Given the description of an element on the screen output the (x, y) to click on. 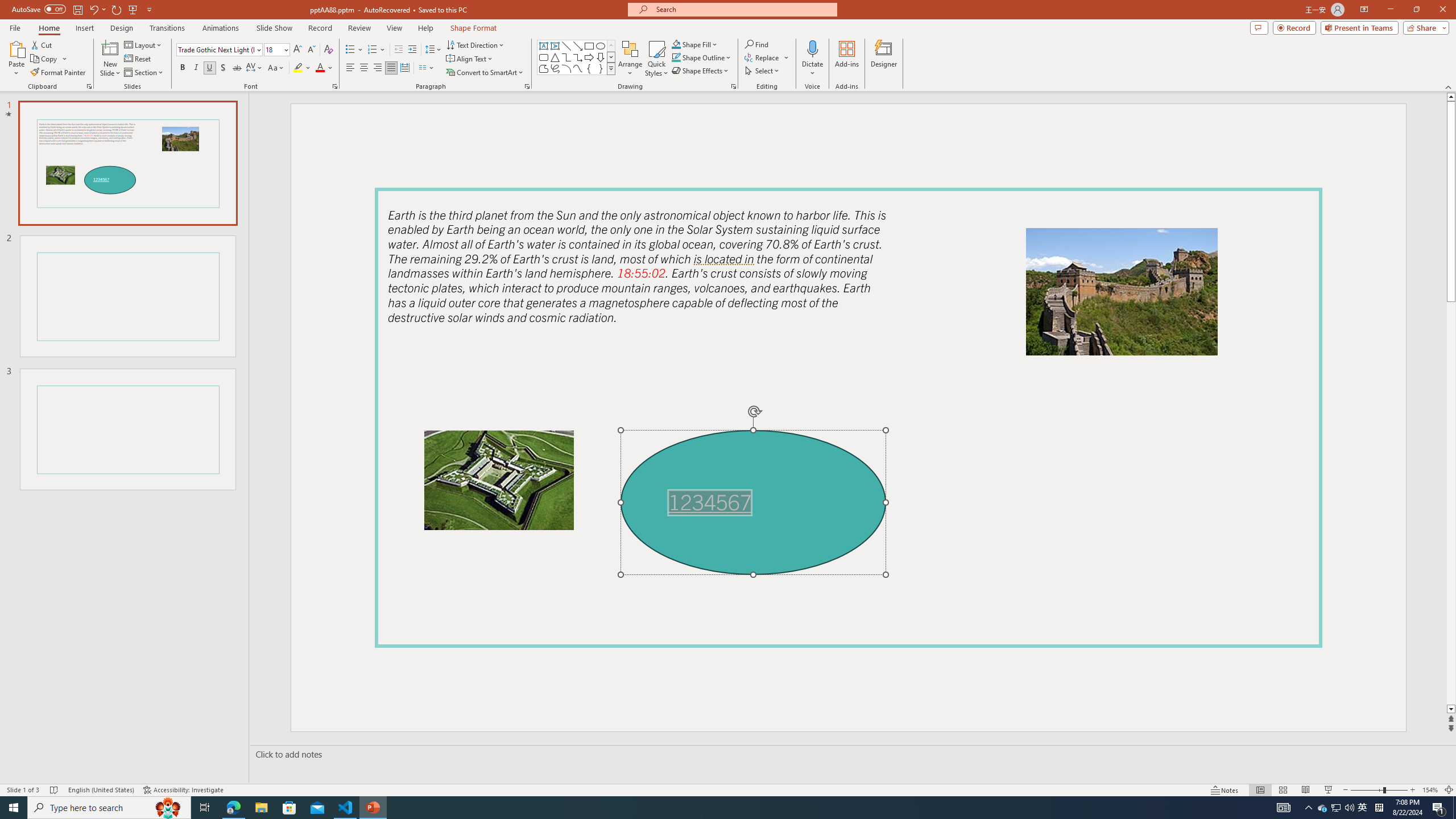
Zoom 154% (1430, 790)
